Given the description of an element on the screen output the (x, y) to click on. 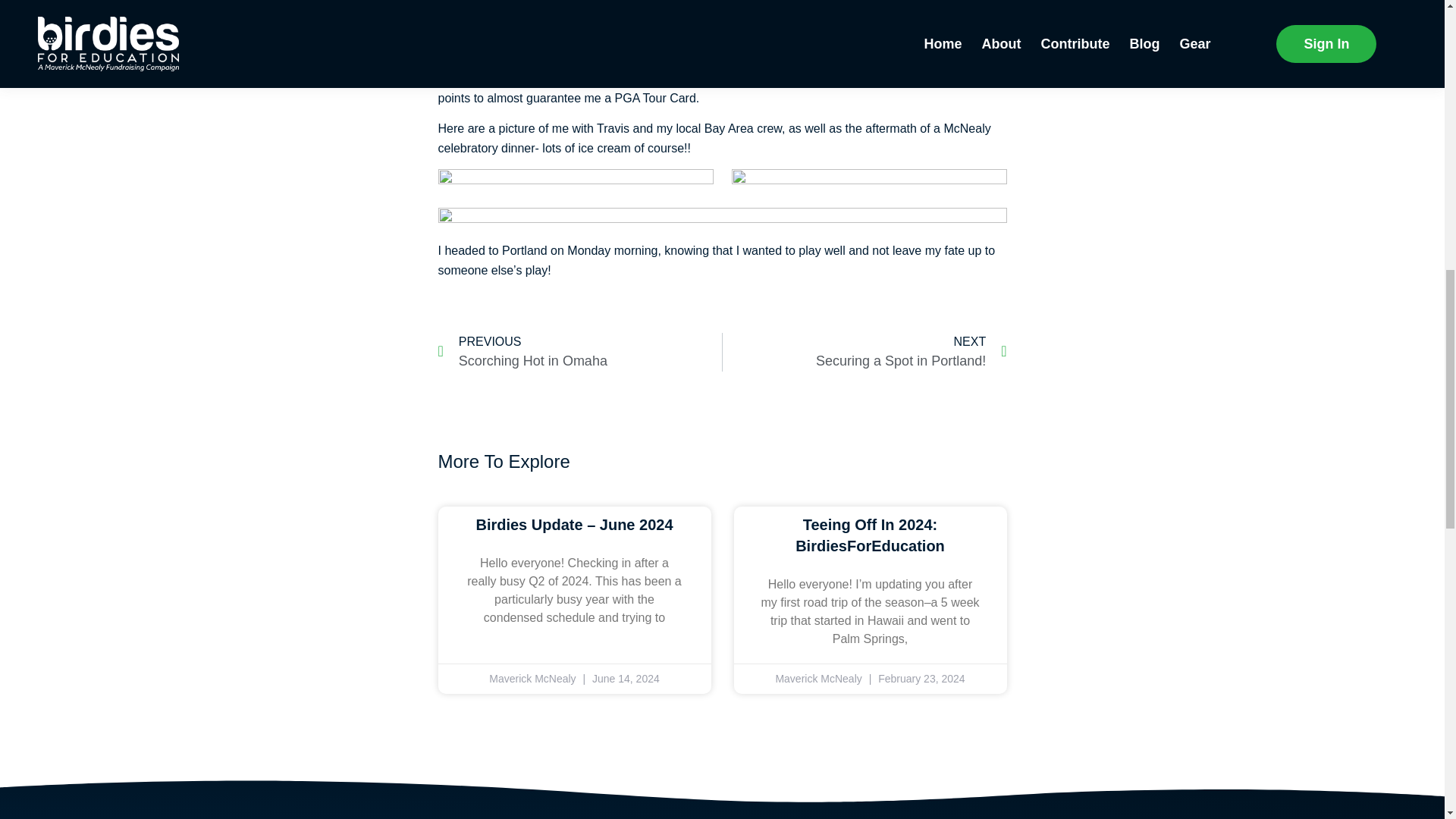
Teeing Off In 2024: BirdiesForEducation (580, 351)
